Given the description of an element on the screen output the (x, y) to click on. 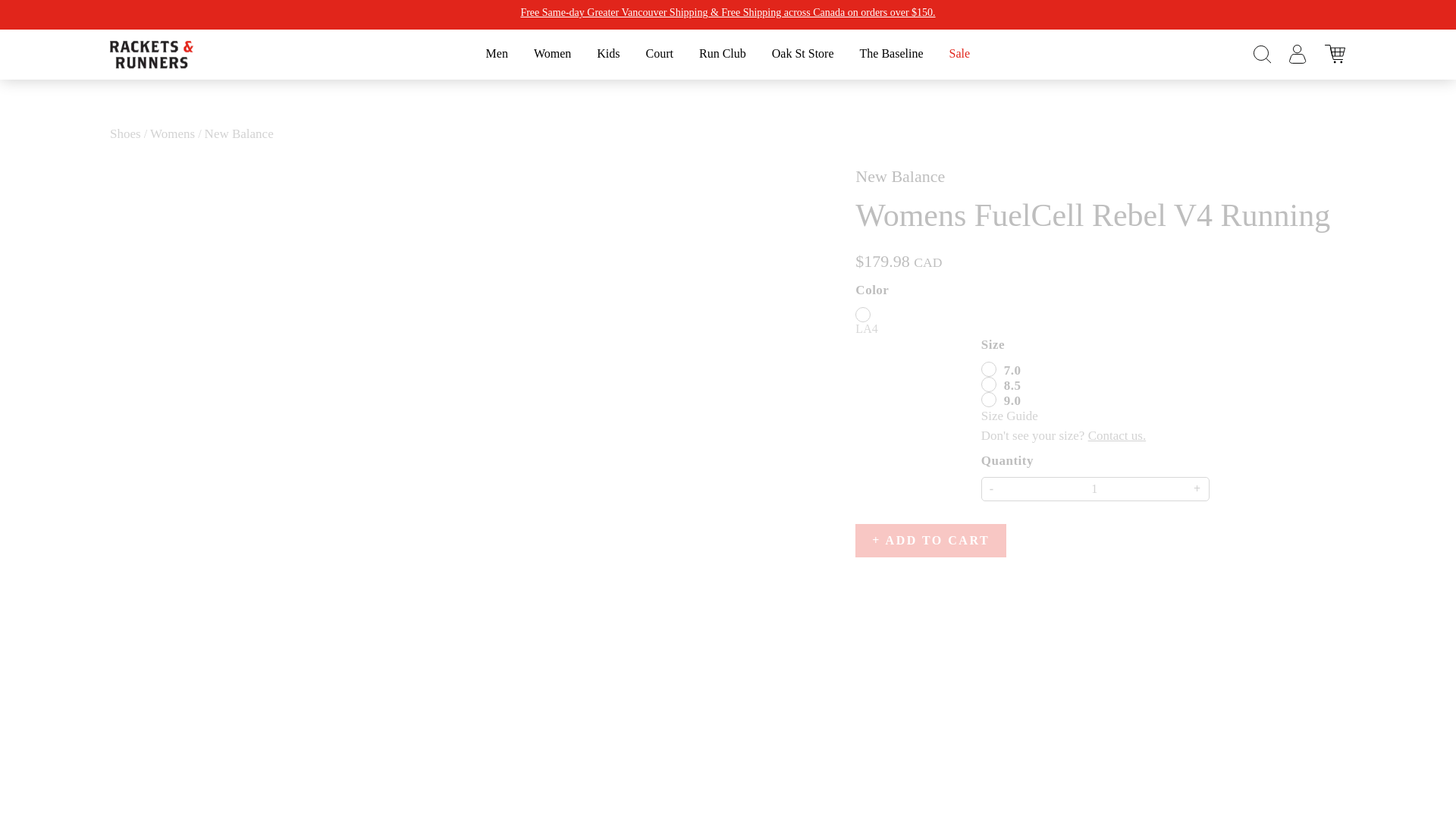
Women (552, 55)
Yes Please (727, 446)
Men (497, 55)
1 (1094, 488)
